Given the description of an element on the screen output the (x, y) to click on. 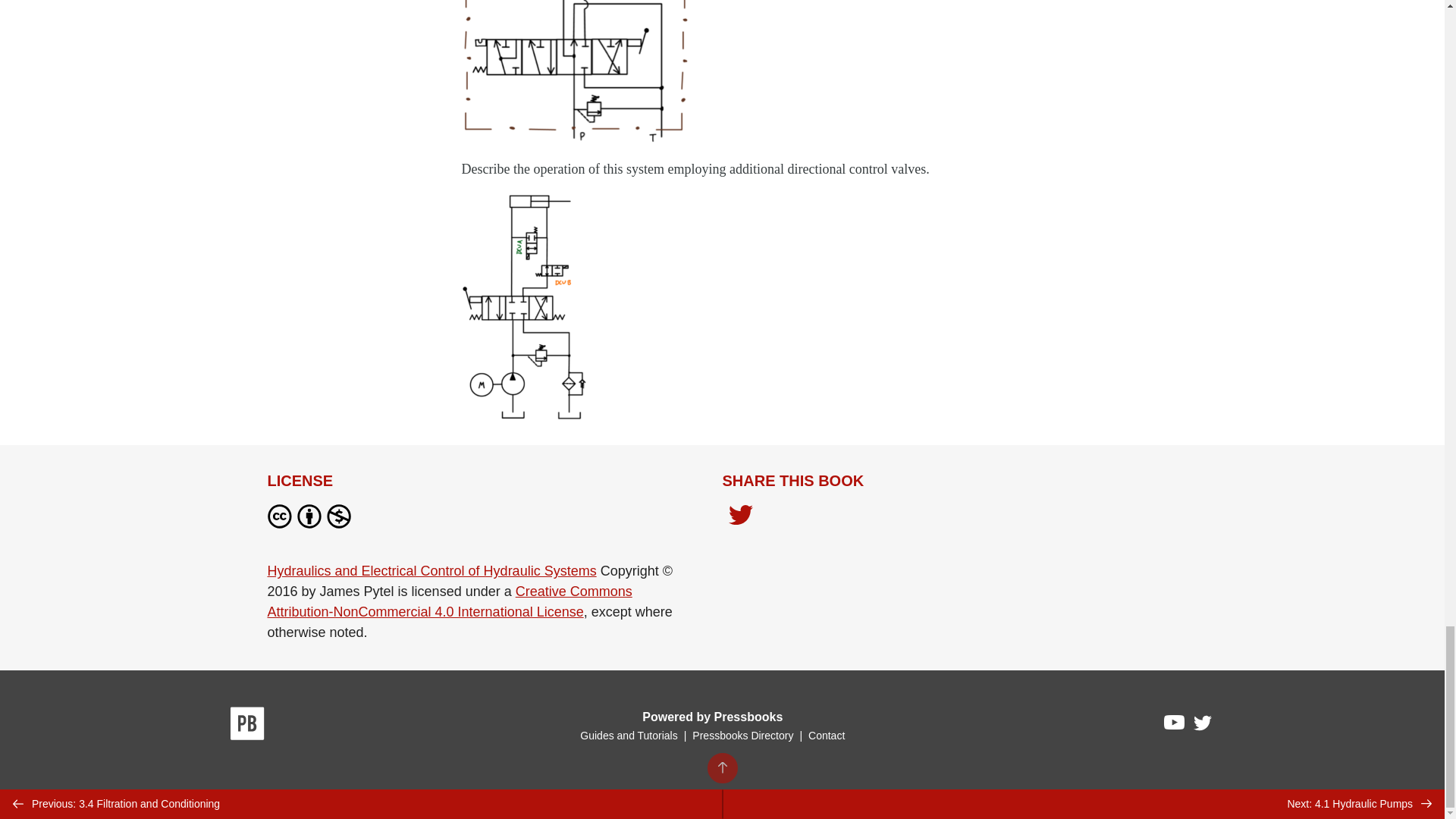
Pressbooks on YouTube (1174, 725)
Share on Twitter (740, 518)
Guides and Tutorials (627, 735)
Pressbooks Directory (742, 735)
Powered by Pressbooks (712, 716)
Hydraulics and Electrical Control of Hydraulic Systems (430, 570)
Contact (826, 735)
Share on Twitter (740, 516)
